Given the description of an element on the screen output the (x, y) to click on. 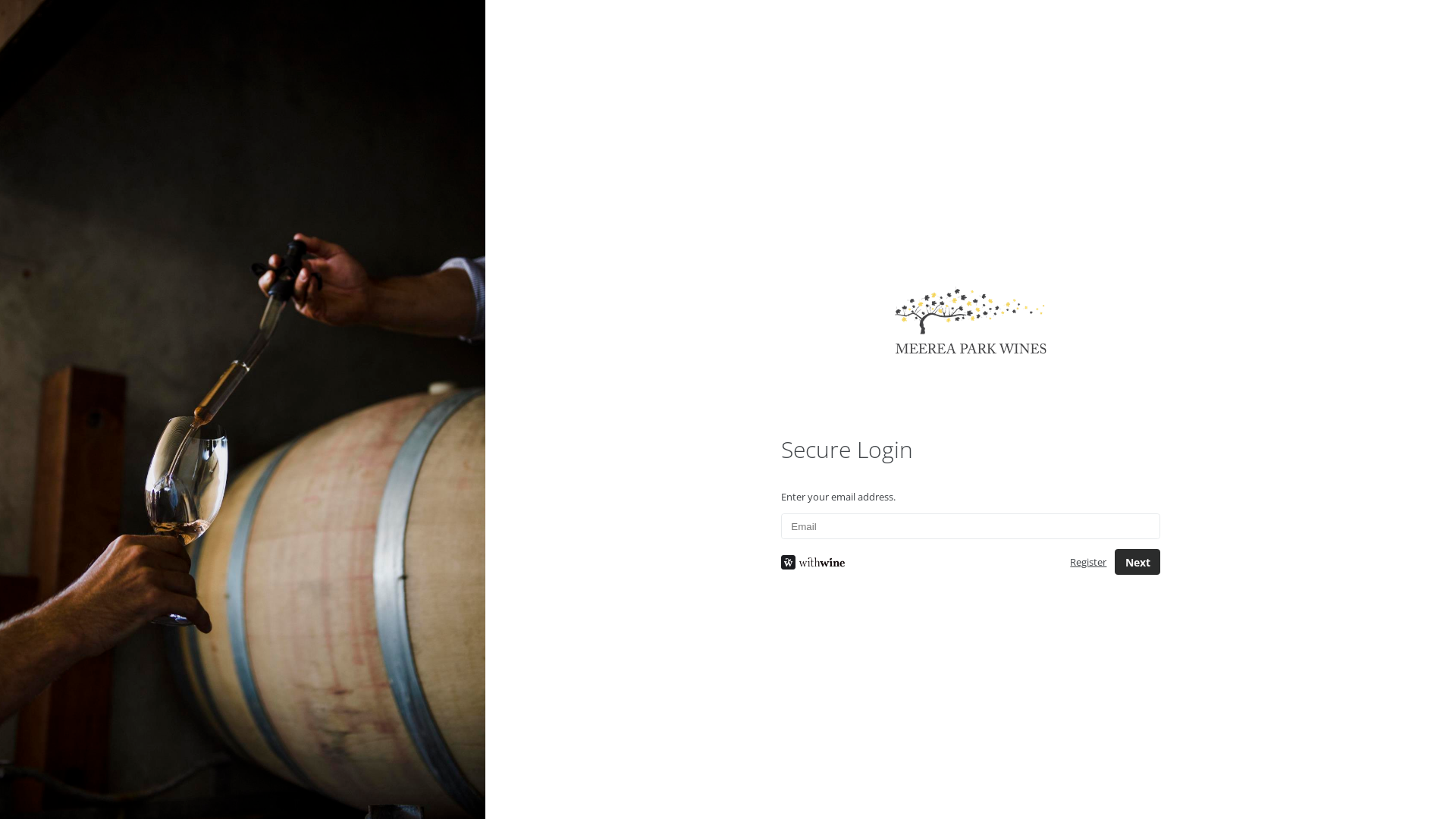
Register Element type: text (1087, 561)
Next Element type: text (1137, 561)
WithWine - Click for more information Element type: hover (913, 562)
